Given the description of an element on the screen output the (x, y) to click on. 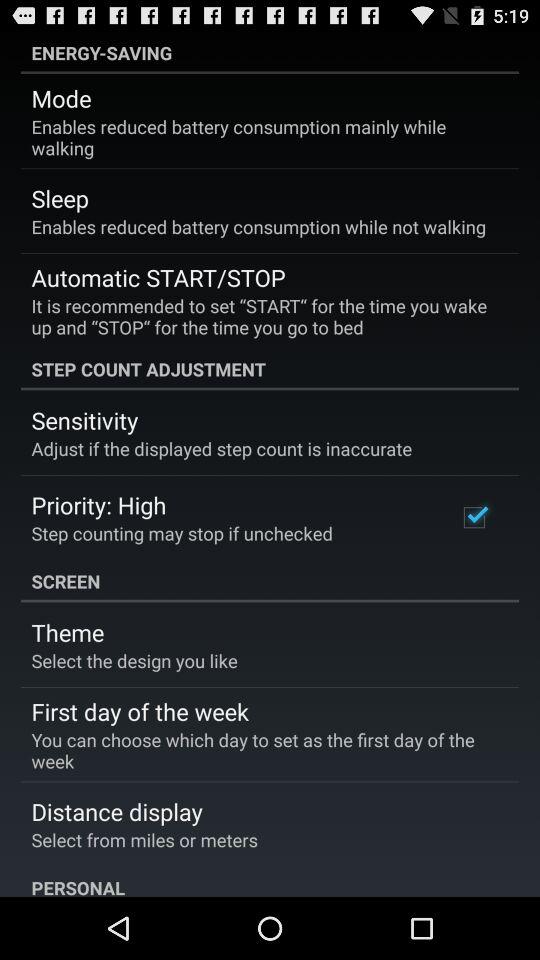
jump until step counting may icon (182, 532)
